Given the description of an element on the screen output the (x, y) to click on. 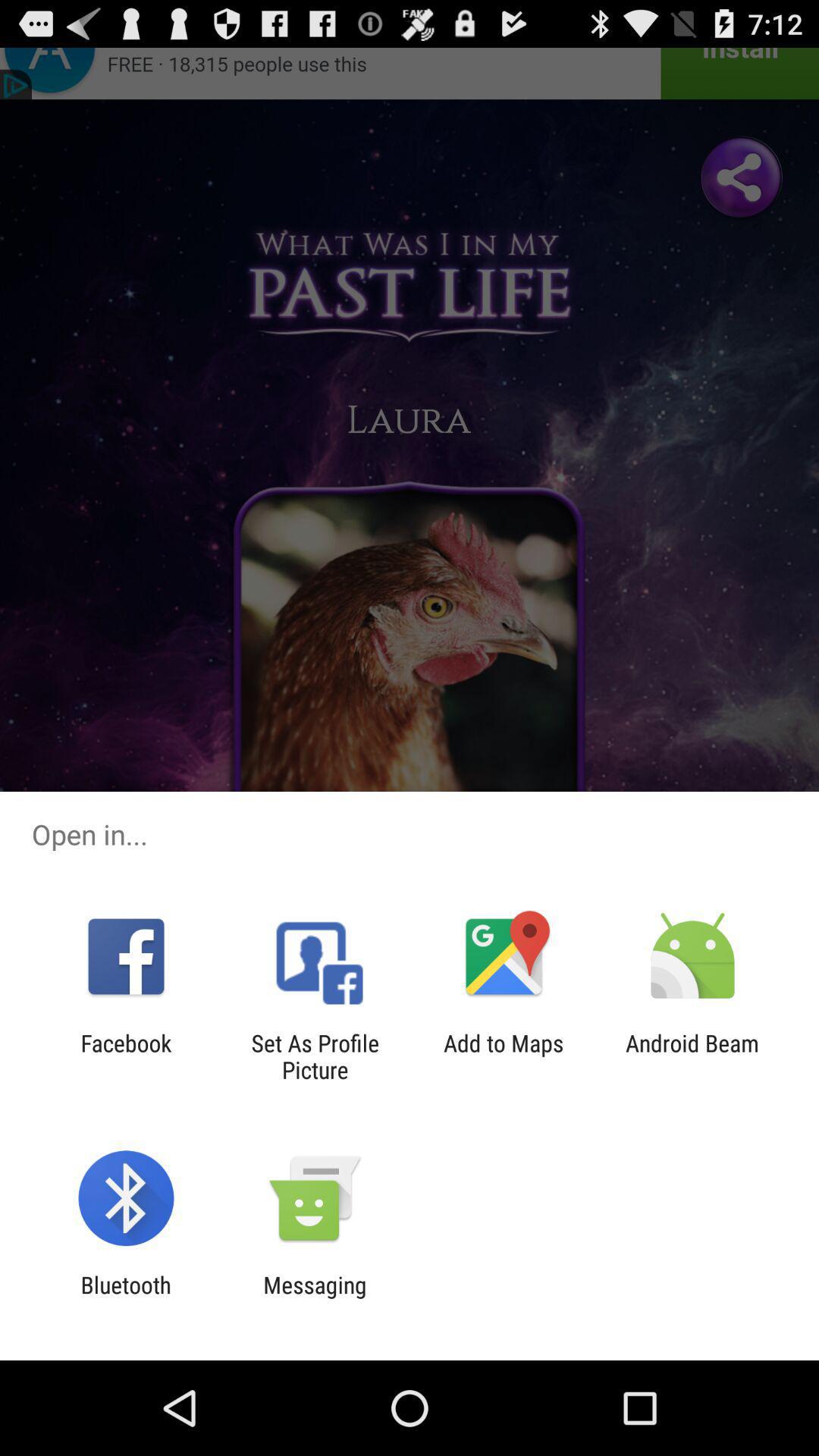
launch item to the left of the messaging (125, 1298)
